Given the description of an element on the screen output the (x, y) to click on. 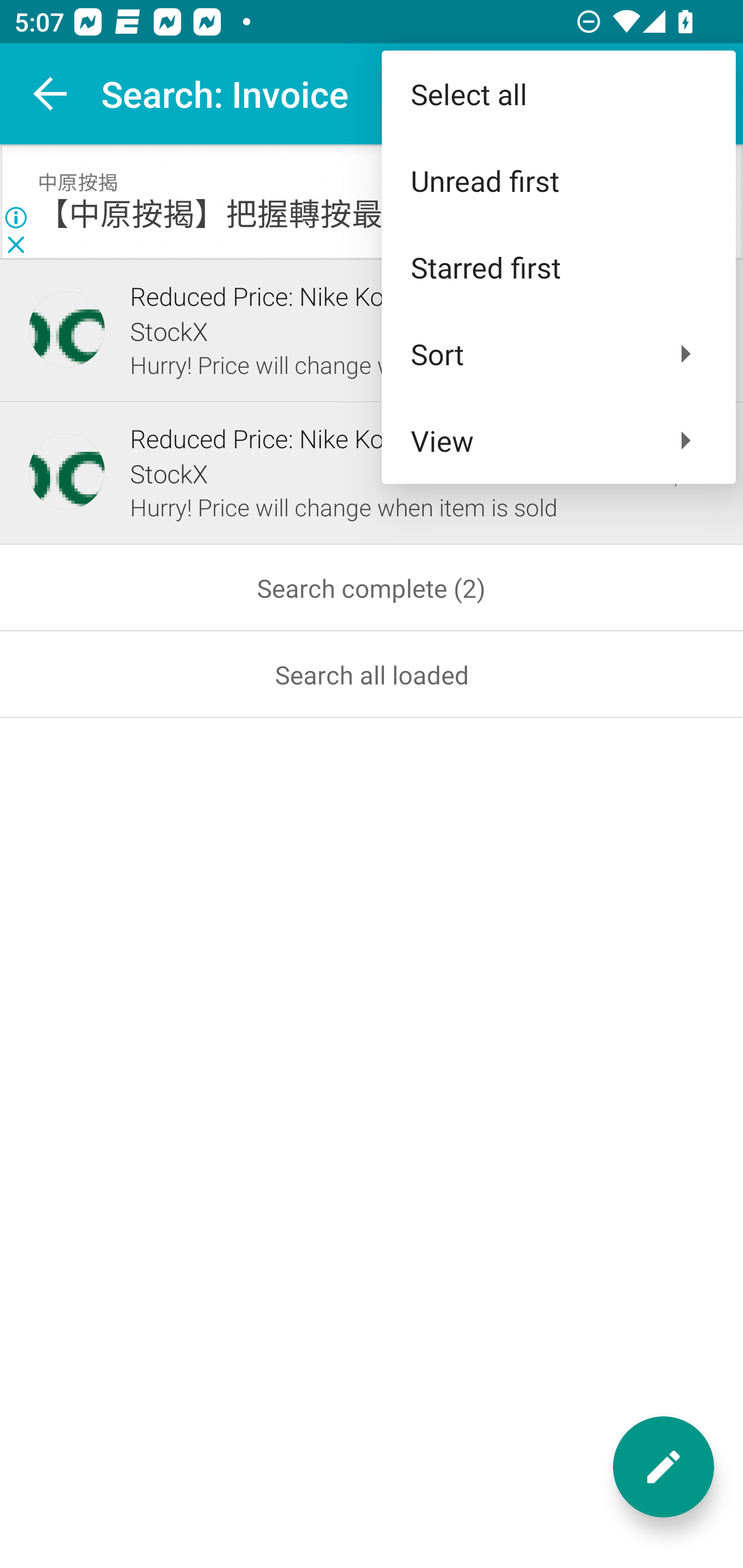
Select all (558, 93)
Unread first (558, 180)
Starred first (558, 267)
Sort (558, 353)
View (558, 440)
